Given the description of an element on the screen output the (x, y) to click on. 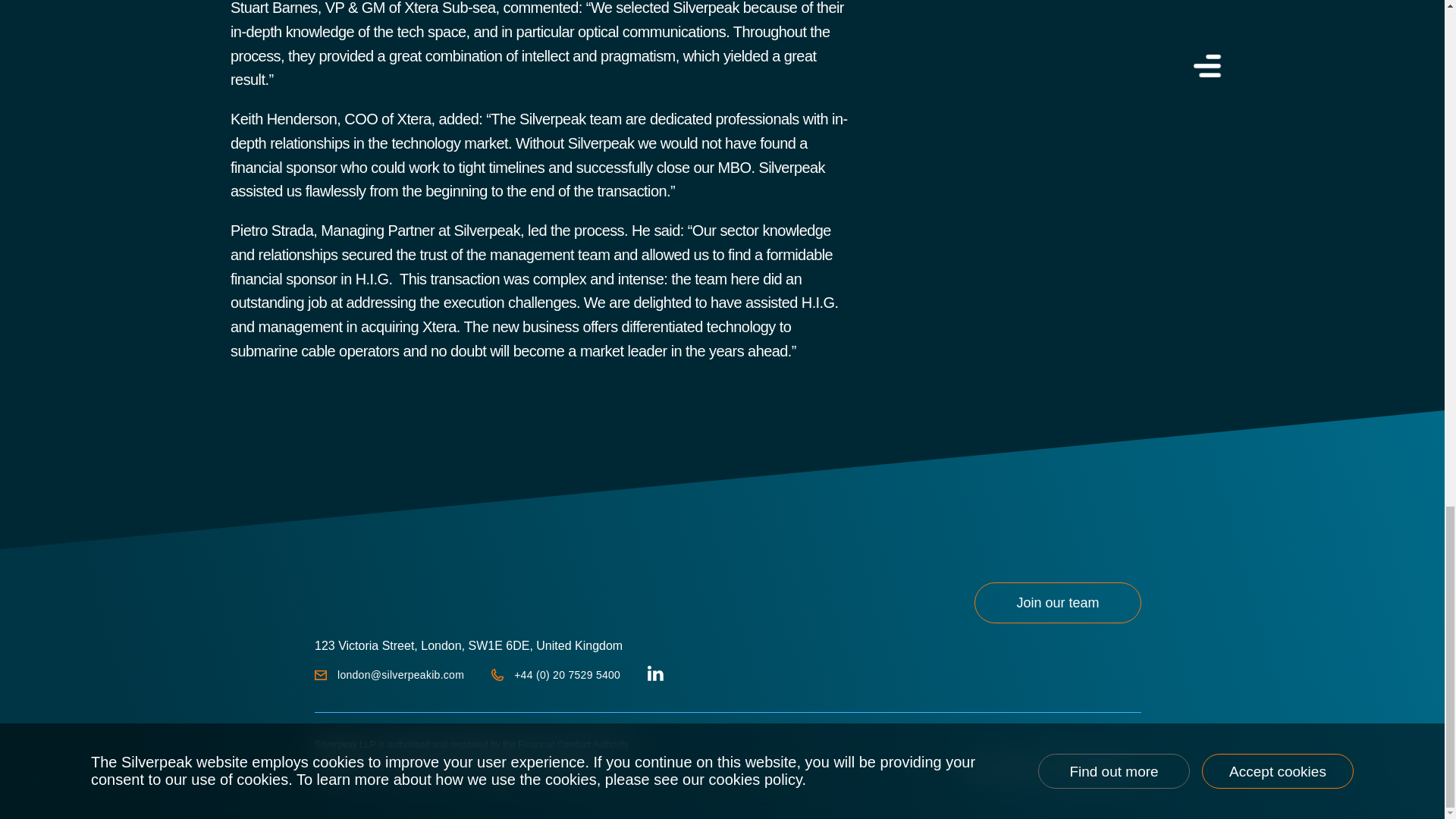
Sitemap (570, 767)
Cookie Policy (501, 767)
Legal Policy (340, 767)
Join our team (1057, 602)
Privacy Policy (419, 767)
